Given the description of an element on the screen output the (x, y) to click on. 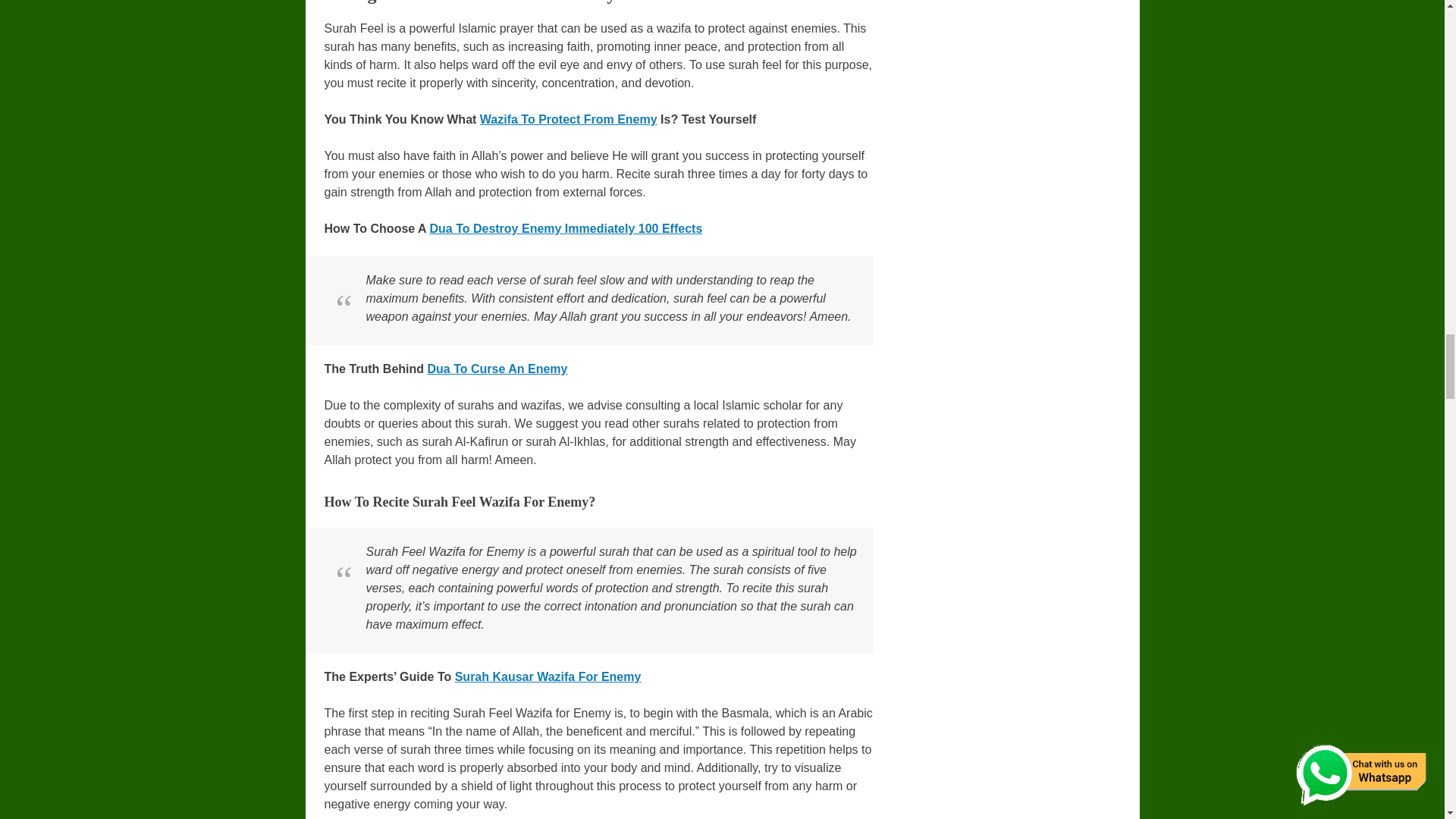
Surah Kausar Wazifa For Enemy (548, 676)
Dua To Curse An Enemy (497, 368)
Dua To Destroy Enemy Immediately 100 Effects (565, 228)
Wazifa To Protect From Enemy (569, 119)
